Given the description of an element on the screen output the (x, y) to click on. 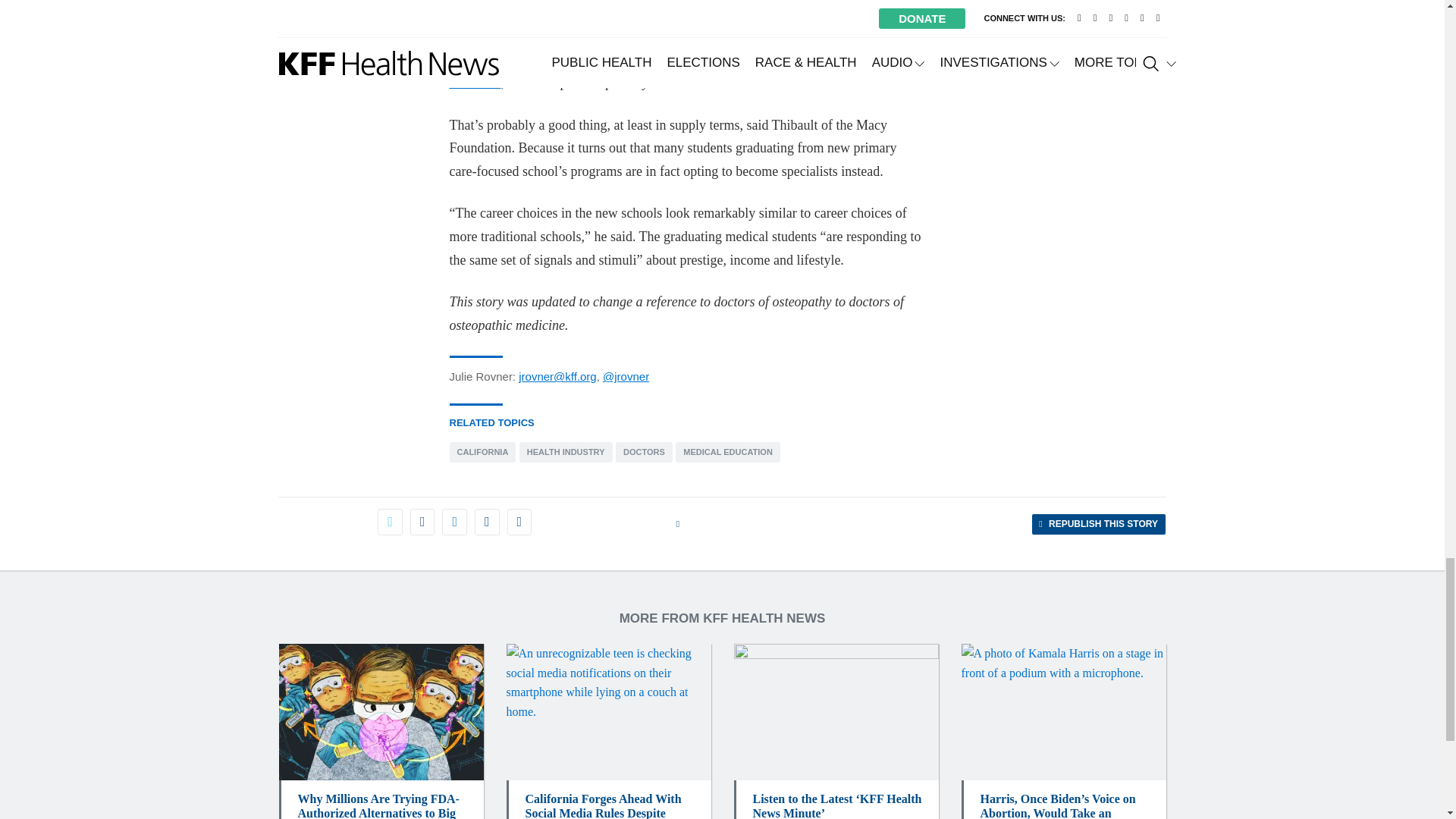
Click to share (1098, 523)
